Given the description of an element on the screen output the (x, y) to click on. 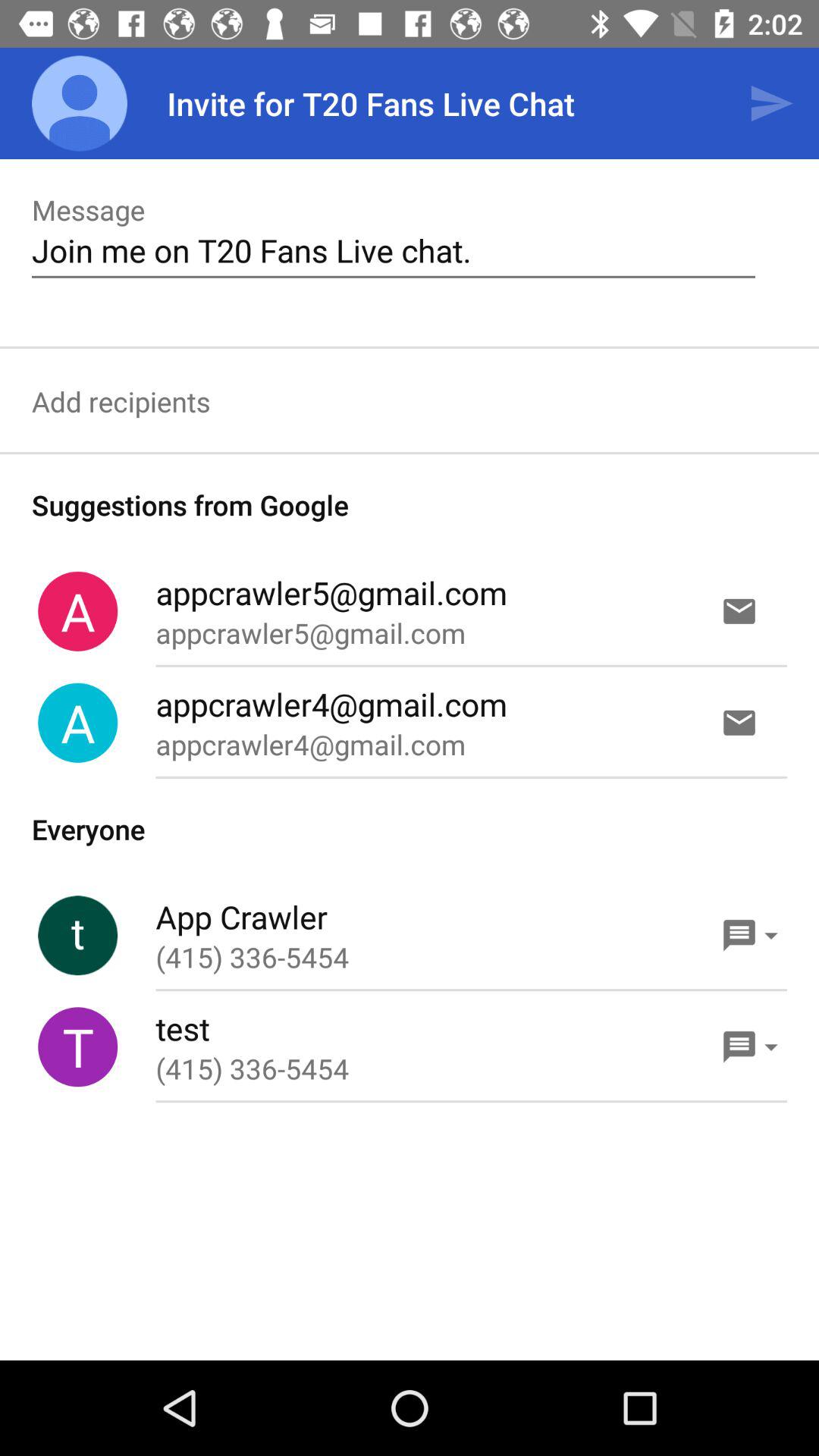
turn off join me on item (393, 249)
